Given the description of an element on the screen output the (x, y) to click on. 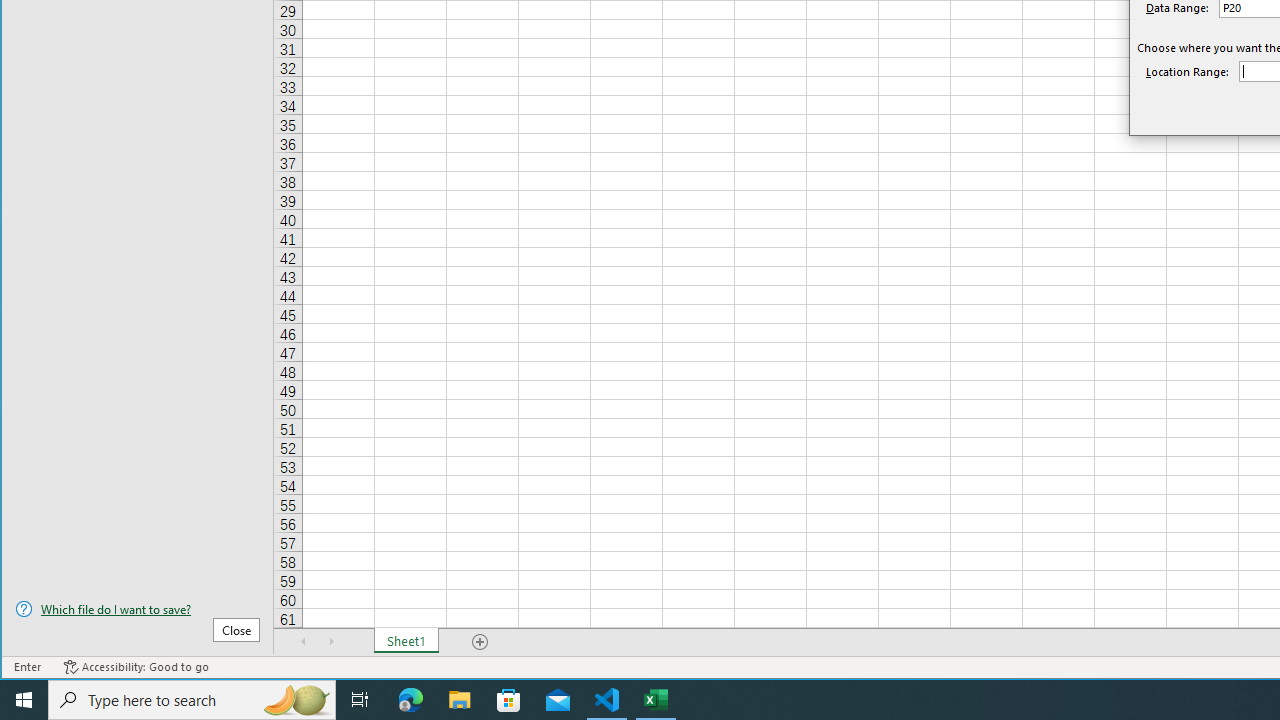
File Explorer (460, 699)
Visual Studio Code - 1 running window (607, 699)
